Given the description of an element on the screen output the (x, y) to click on. 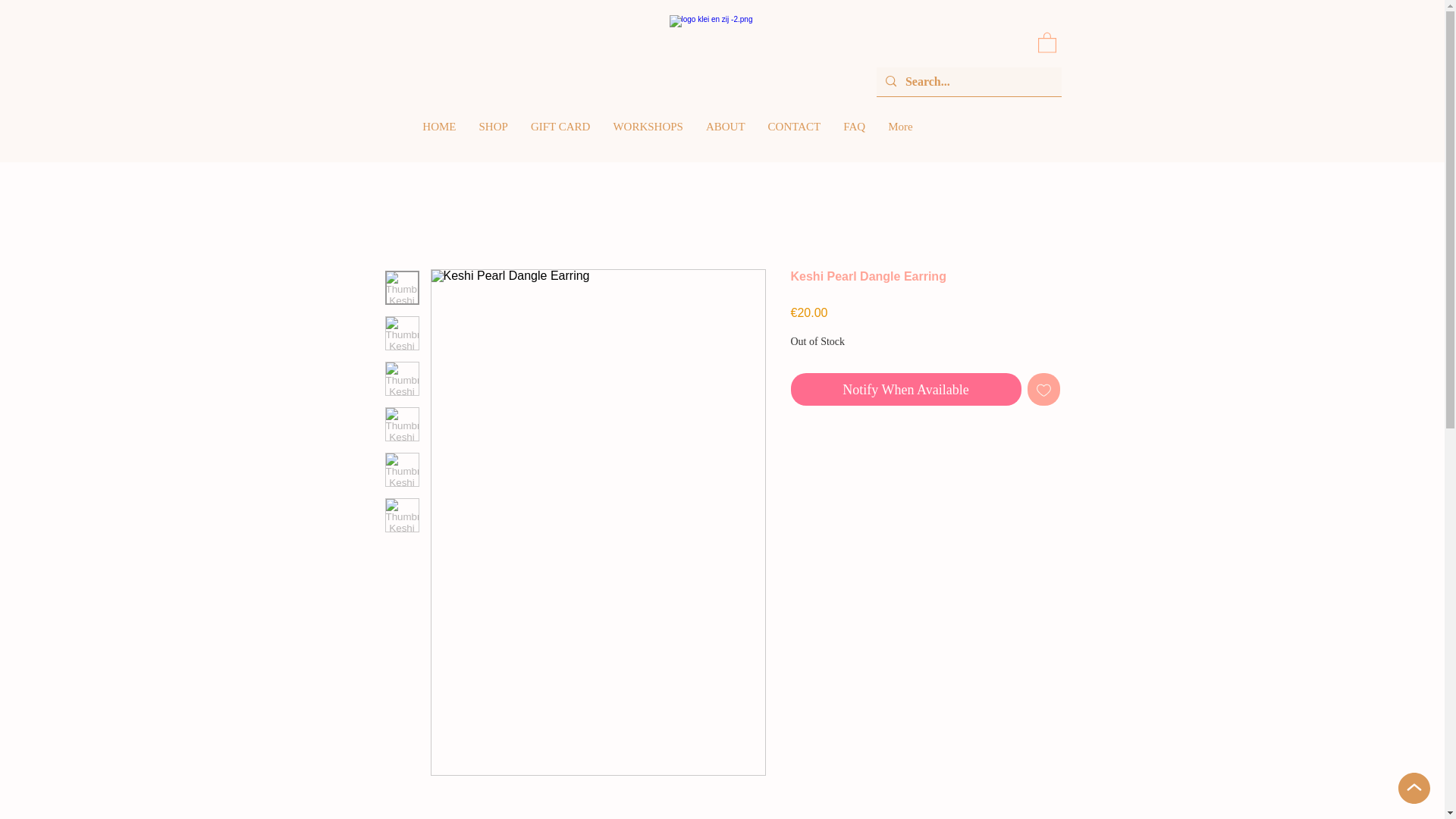
WORKSHOPS (647, 136)
HOME (438, 136)
ABOUT (725, 136)
CONTACT (794, 136)
GIFT CARD (560, 136)
SHOP (493, 136)
Notify When Available (905, 389)
FAQ (853, 136)
